Given the description of an element on the screen output the (x, y) to click on. 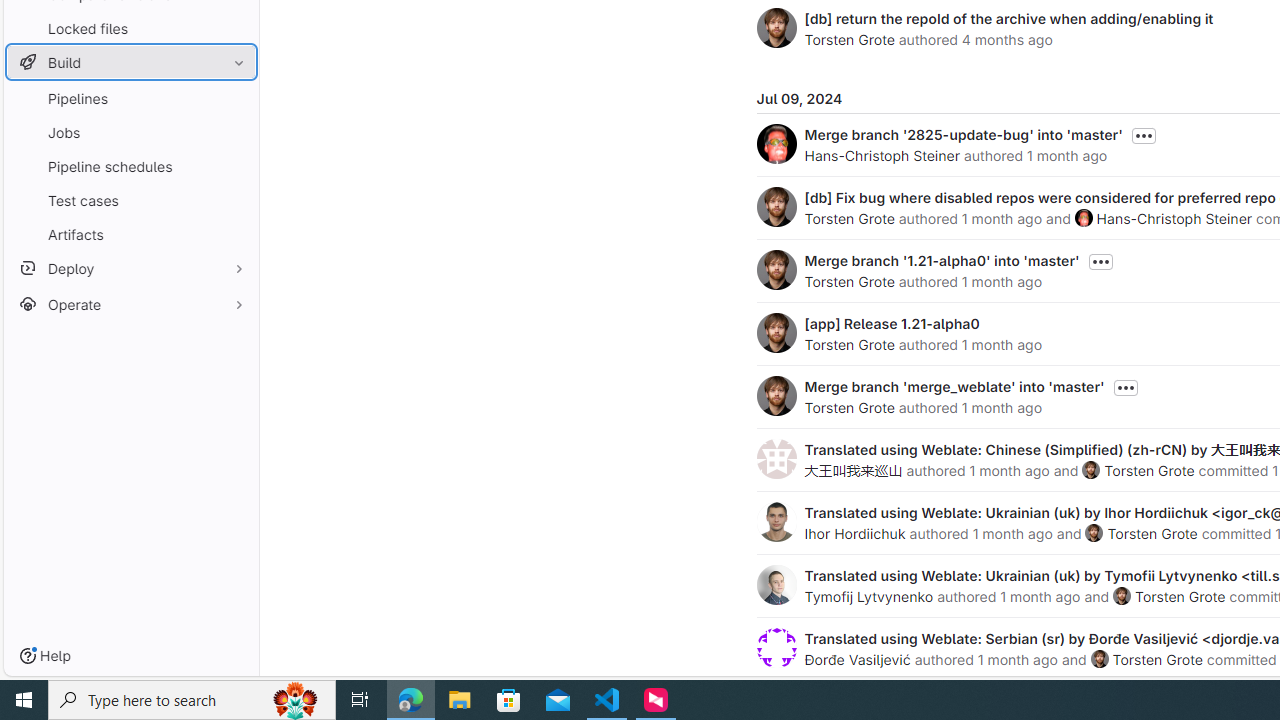
Deploy (130, 268)
Jobs (130, 132)
Pin Pipelines (234, 97)
Merge branch '2825-update-bug' into 'master' (962, 134)
Ihor Hordiichuk's avatar (776, 521)
Artifacts (130, 234)
Torsten Grote (1157, 659)
Pin Locked files (234, 28)
Test cases (130, 200)
Toggle commit description (1125, 388)
Artifacts (130, 234)
Merge branch '1.21-alpha0' into 'master' (941, 260)
